Given the description of an element on the screen output the (x, y) to click on. 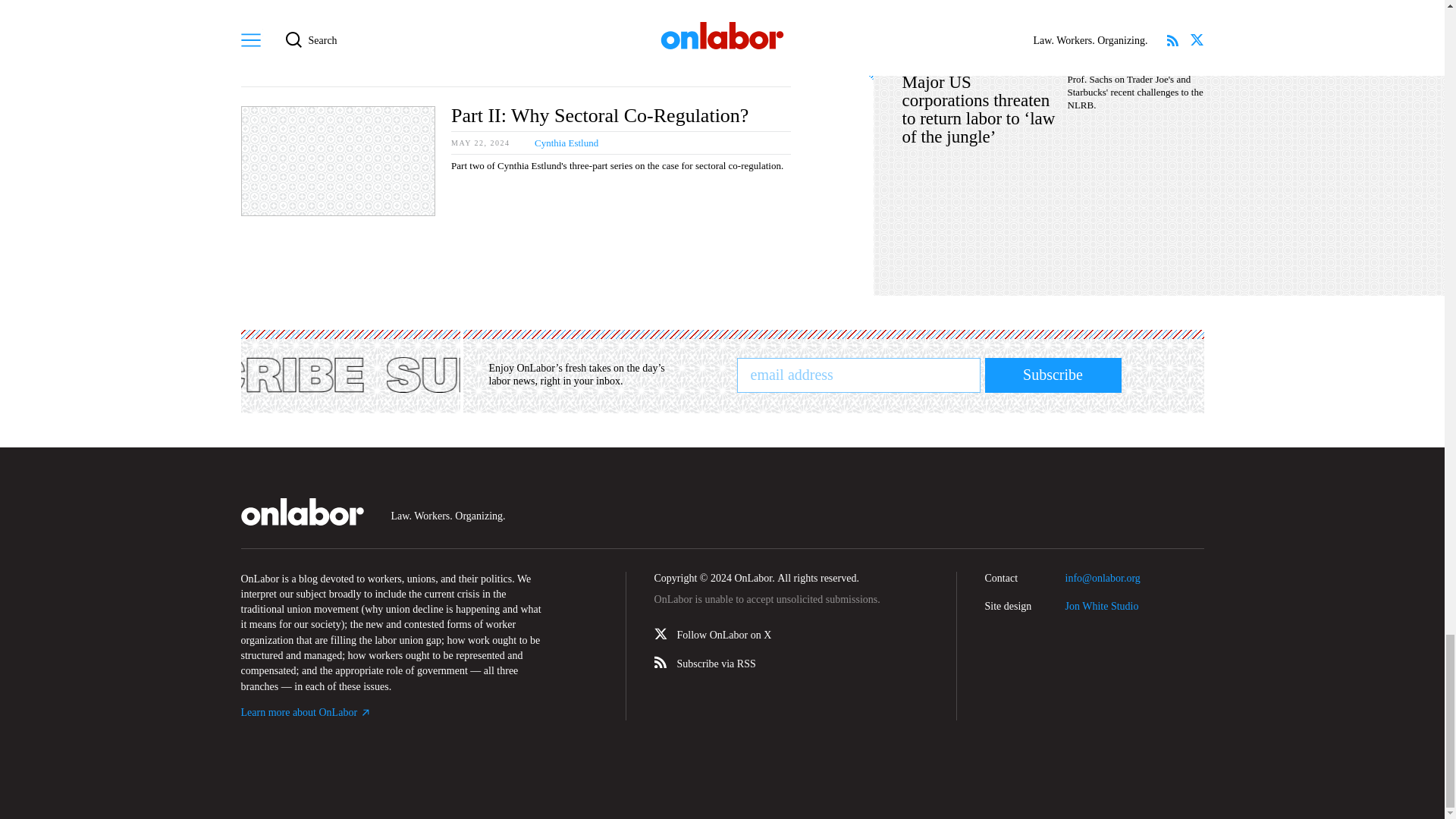
Subscribe (1052, 375)
